Given the description of an element on the screen output the (x, y) to click on. 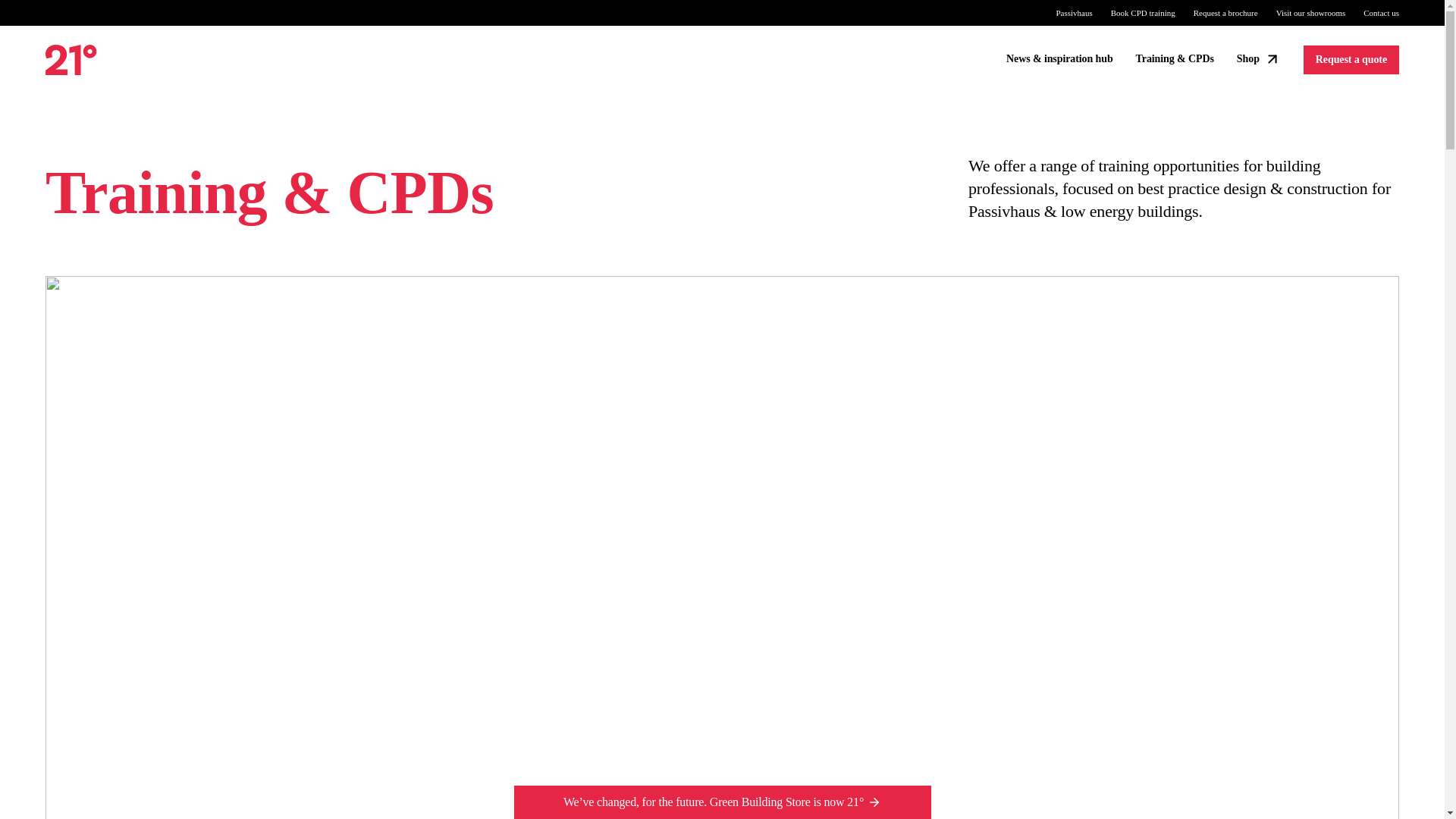
Book CPD training (1142, 12)
Passivhaus (1073, 12)
Visit our showrooms (1310, 12)
Request a brochure (1225, 12)
Contact us (1380, 12)
